Given the description of an element on the screen output the (x, y) to click on. 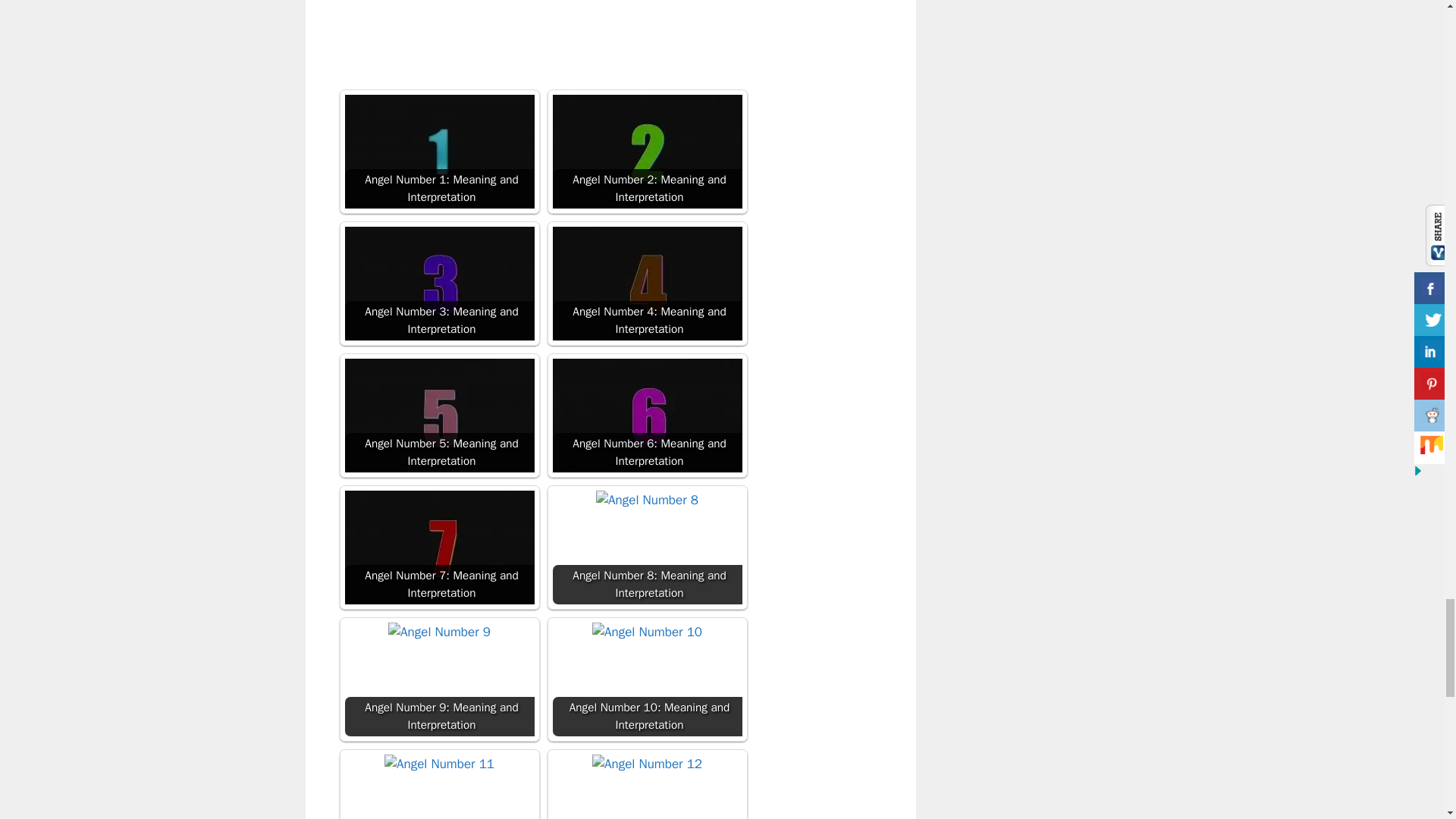
Angel Number 6: Meaning and Interpretation (646, 415)
Angel Number 4: Meaning and Interpretation (646, 283)
Angel Number 7: Meaning and Interpretation (438, 547)
Angel Number 3: Meaning and Interpretation (438, 283)
Angel Number 1: Meaning and Interpretation (438, 151)
Angel Number 9: Meaning and Interpretation (438, 679)
Angel Number 10: Meaning and Interpretation (646, 679)
Angel Number 2: Meaning and Interpretation (646, 151)
Angel Number 8: Meaning and Interpretation (646, 547)
Angel Number 5: Meaning and Interpretation (438, 415)
